Given the description of an element on the screen output the (x, y) to click on. 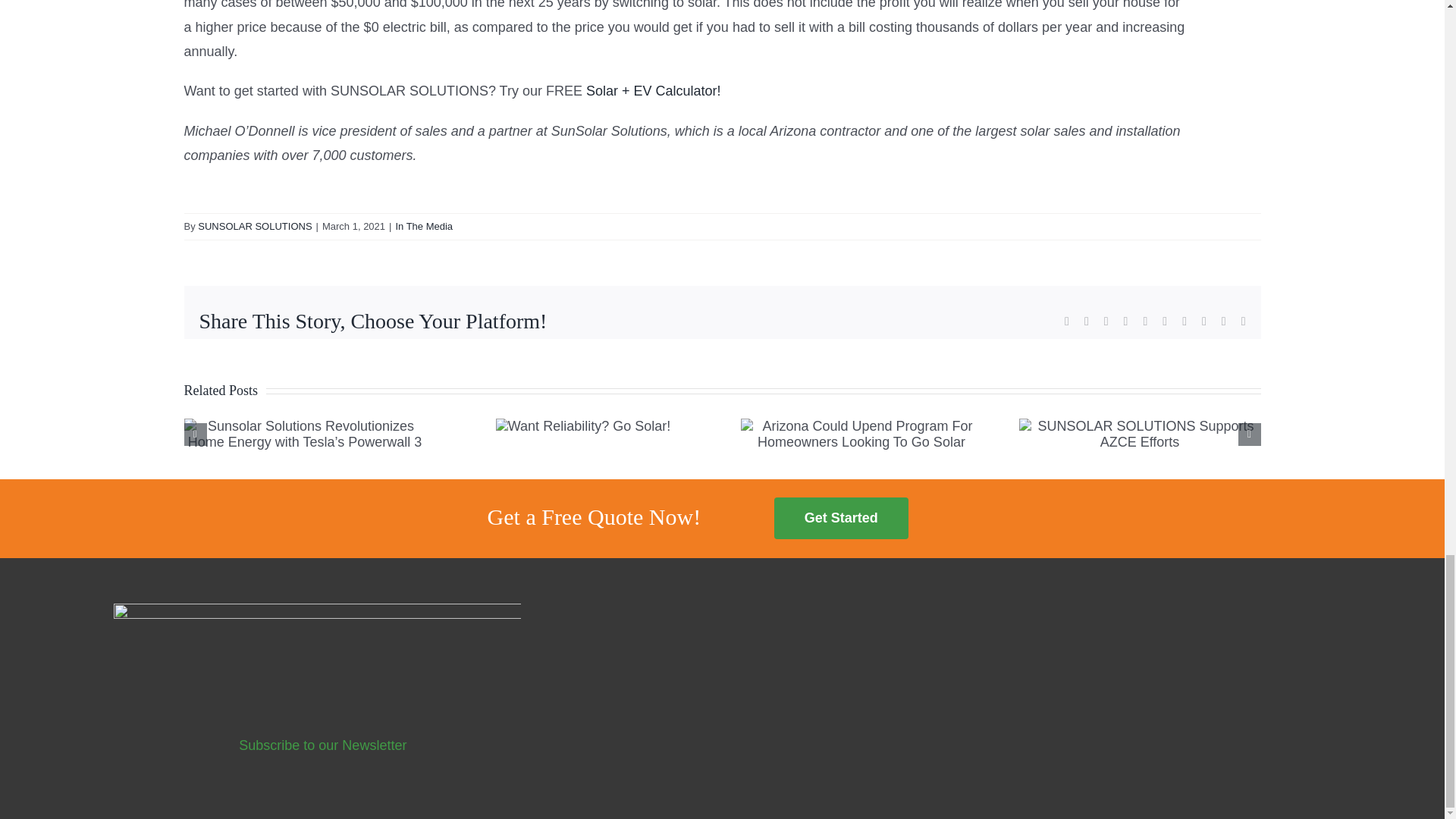
SUNSOLAR SOLUTIONS (254, 225)
In The Media (423, 225)
Posts by SUNSOLAR SOLUTIONS (254, 225)
